Given the description of an element on the screen output the (x, y) to click on. 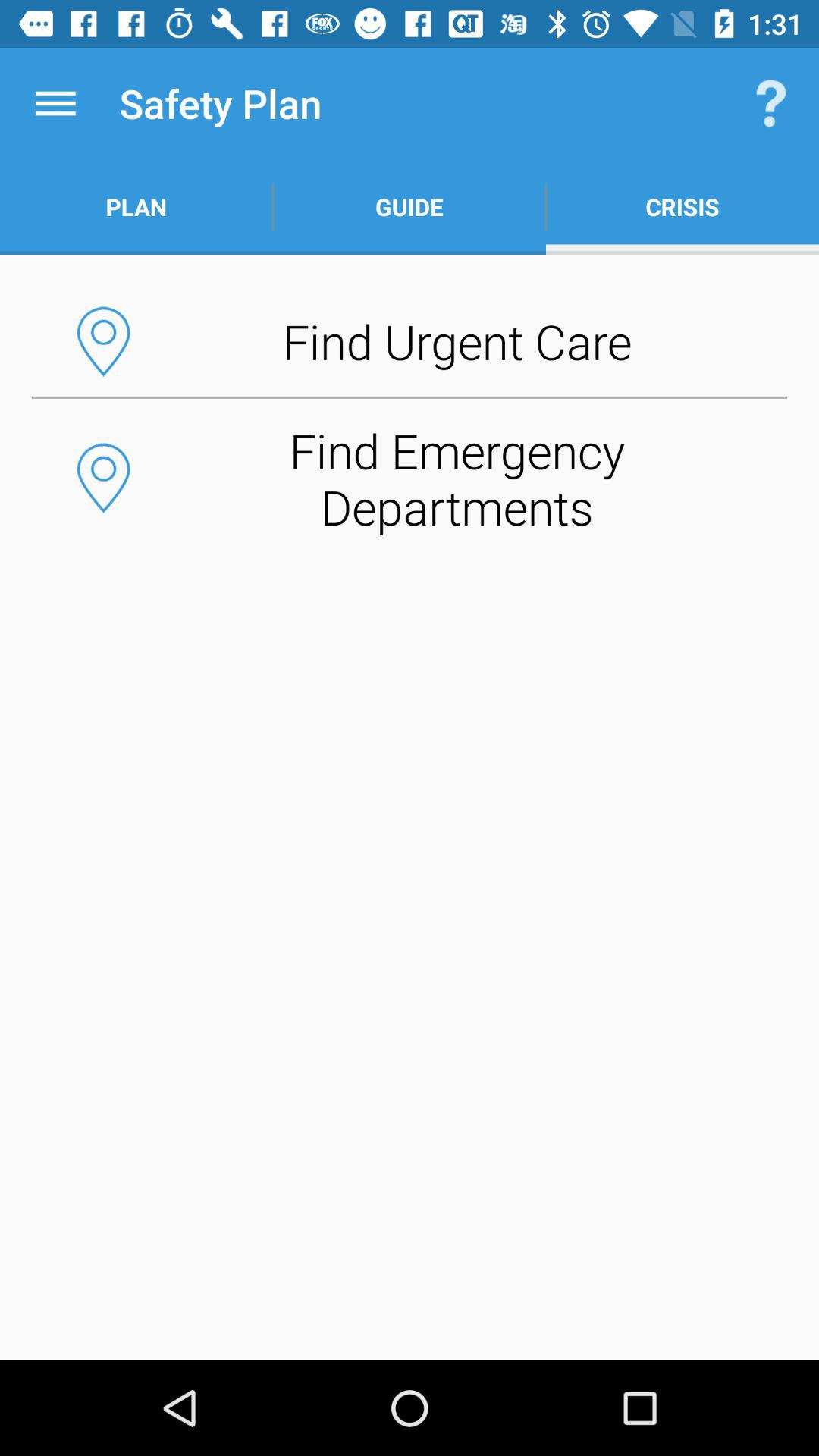
open the crisis app (682, 206)
